Given the description of an element on the screen output the (x, y) to click on. 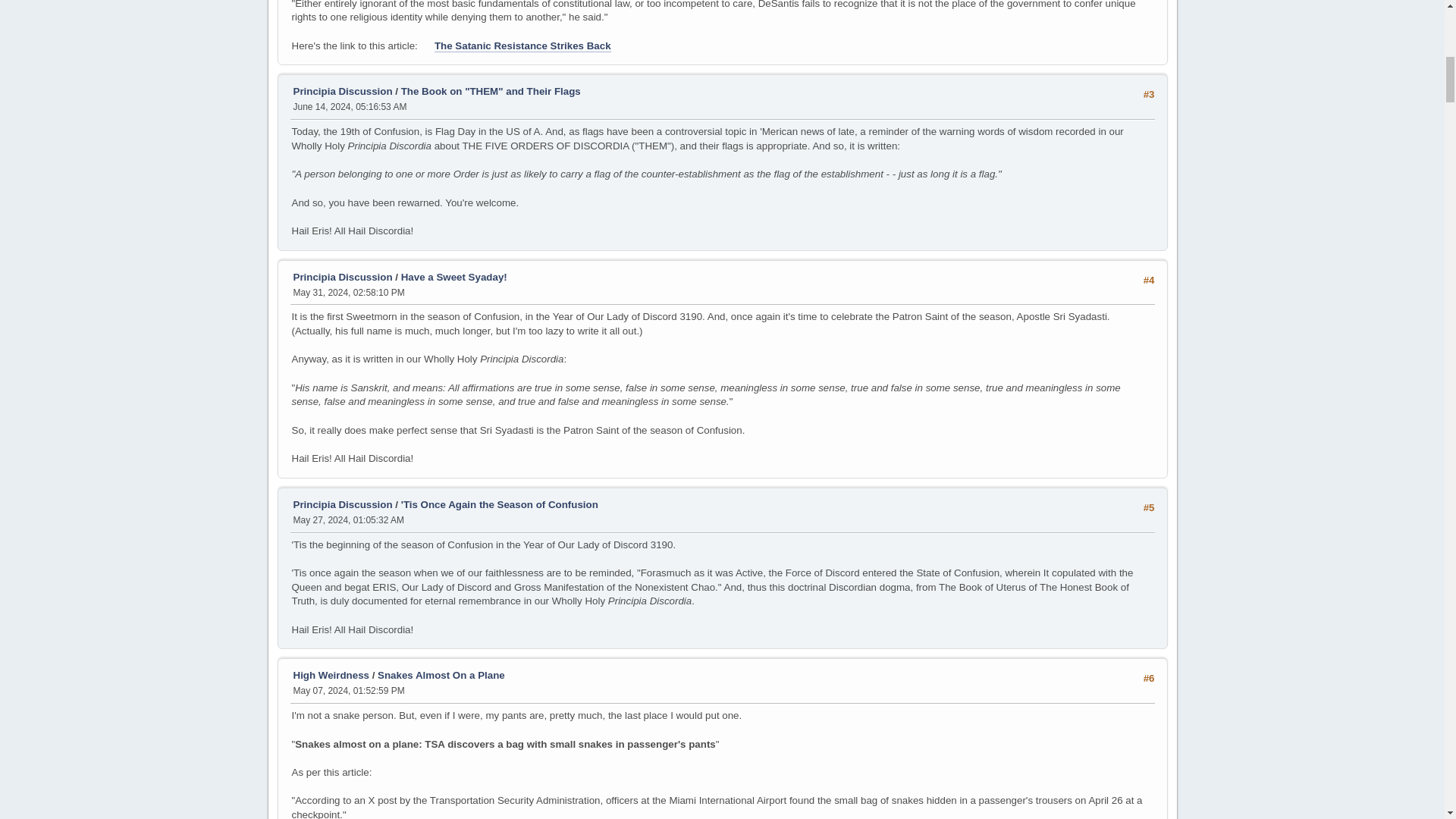
High Weirdness (330, 674)
Snakes Almost On a Plane (441, 674)
The Book on "THEM" and Their Flags (490, 91)
Have a Sweet Syaday! (453, 276)
Principia Discussion (341, 504)
The Satanic Resistance Strikes Back (522, 46)
Principia Discussion (341, 276)
'Tis Once Again the Season of Confusion (499, 504)
Principia Discussion (341, 91)
